Given the description of an element on the screen output the (x, y) to click on. 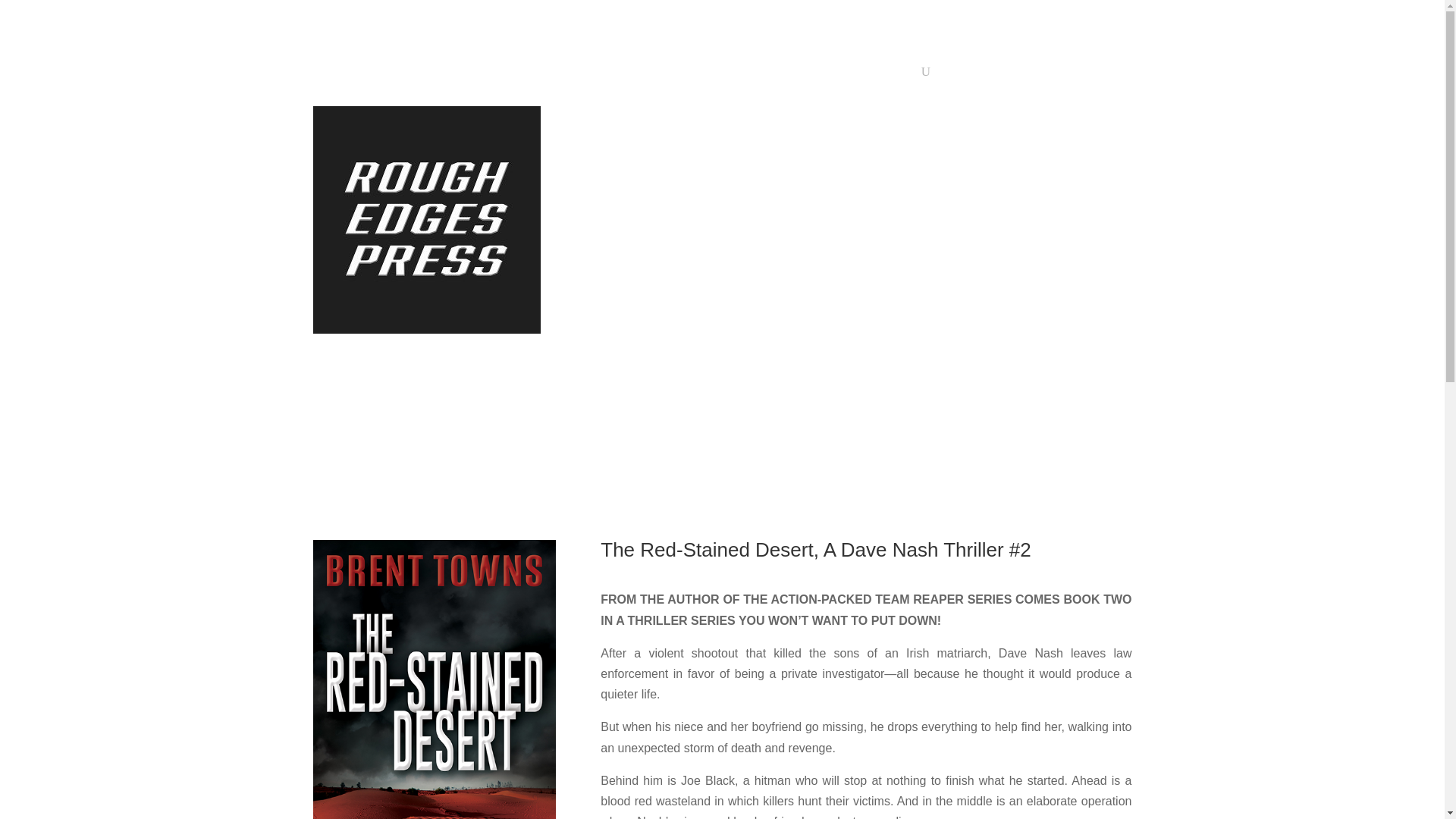
Home (519, 74)
News (684, 74)
Books (572, 74)
Contact Us (878, 74)
About (633, 74)
Authors (810, 74)
REP logo (426, 219)
Submissions (744, 74)
